Given the description of an element on the screen output the (x, y) to click on. 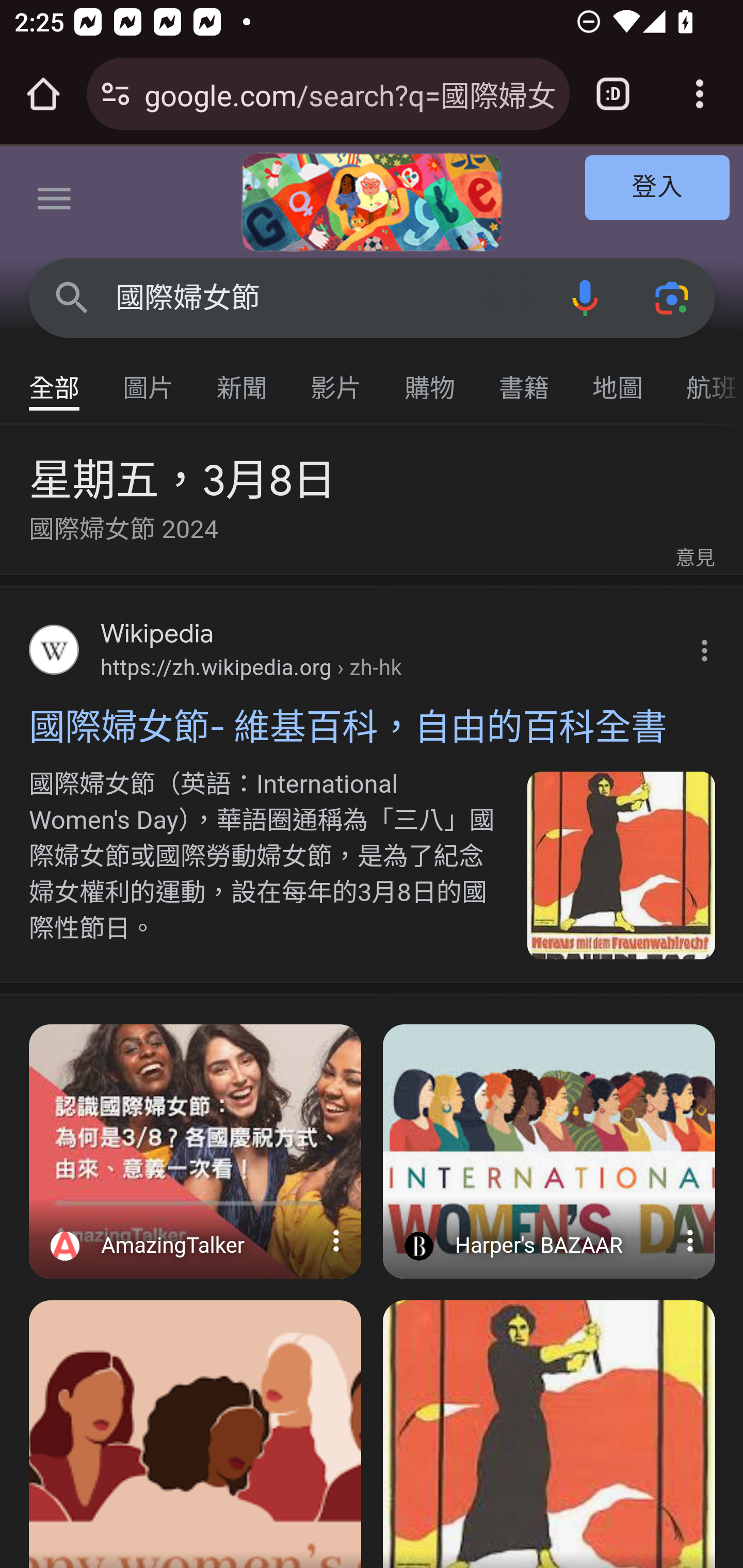
Open the home page (43, 93)
Connection is secure (115, 93)
Switch or close tabs (612, 93)
Customize and control Google Chrome (699, 93)
2024 年國際婦女節 (371, 202)
主選單 (54, 202)
登入 (658, 187)
Google 搜尋 (71, 296)
使用相機或相片搜尋 (672, 296)
國際婦女節 (328, 297)
圖片 (148, 378)
新聞 (242, 378)
影片 (336, 378)
購物 (430, 378)
書籍 (524, 378)
地圖 (618, 378)
航班 (703, 378)
意見 (695, 558)
國際婦女節- 維基百科，自由的百科全書 (372, 727)
%E5%9B%BD%E9%99%85%E5%A6%87%E5%A5%B3%E8%8A%82 (621, 864)
認識國際婦女節：為何是3/8？各國慶祝方式、由來、意義一次看 ... (195, 1151)
三八國際婦女節」的由來、各國慶祝的方式？這些國家將婦女節 (549, 1151)
AmazingTalker (195, 1240)
Harper's BAZAAR (549, 1240)
國際婦女節2024｜由來/主題/意義一覽！各國慶祝三八婦女節方法 (195, 1433)
國際婦女節- 維基百科，自由的百科全書 (549, 1433)
